Given the description of an element on the screen output the (x, y) to click on. 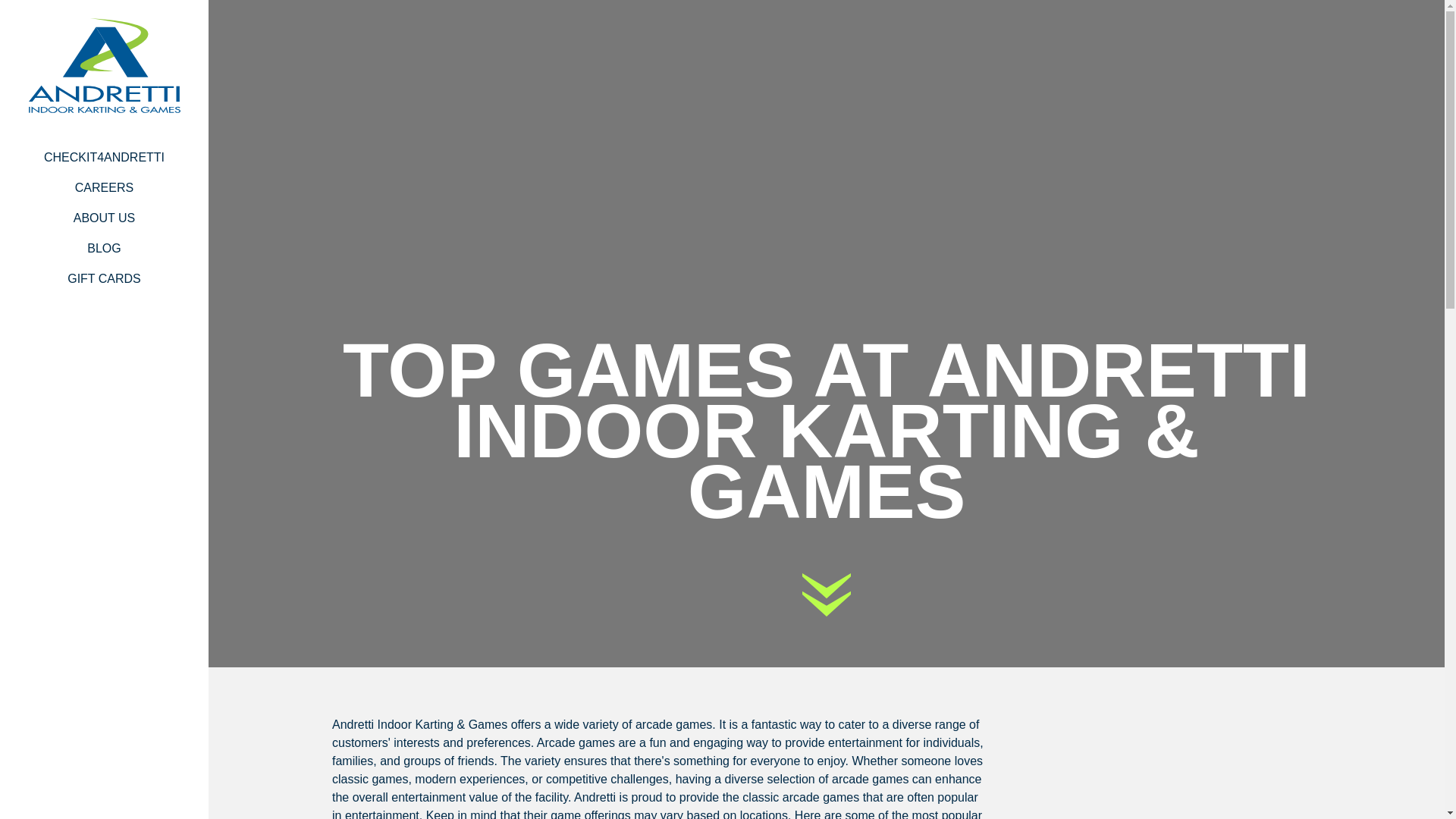
CAREERS (103, 187)
BLOG (103, 248)
GIFT CARDS (103, 278)
CHECKIT4ANDRETTI (103, 157)
ABOUT US (103, 218)
